Given the description of an element on the screen output the (x, y) to click on. 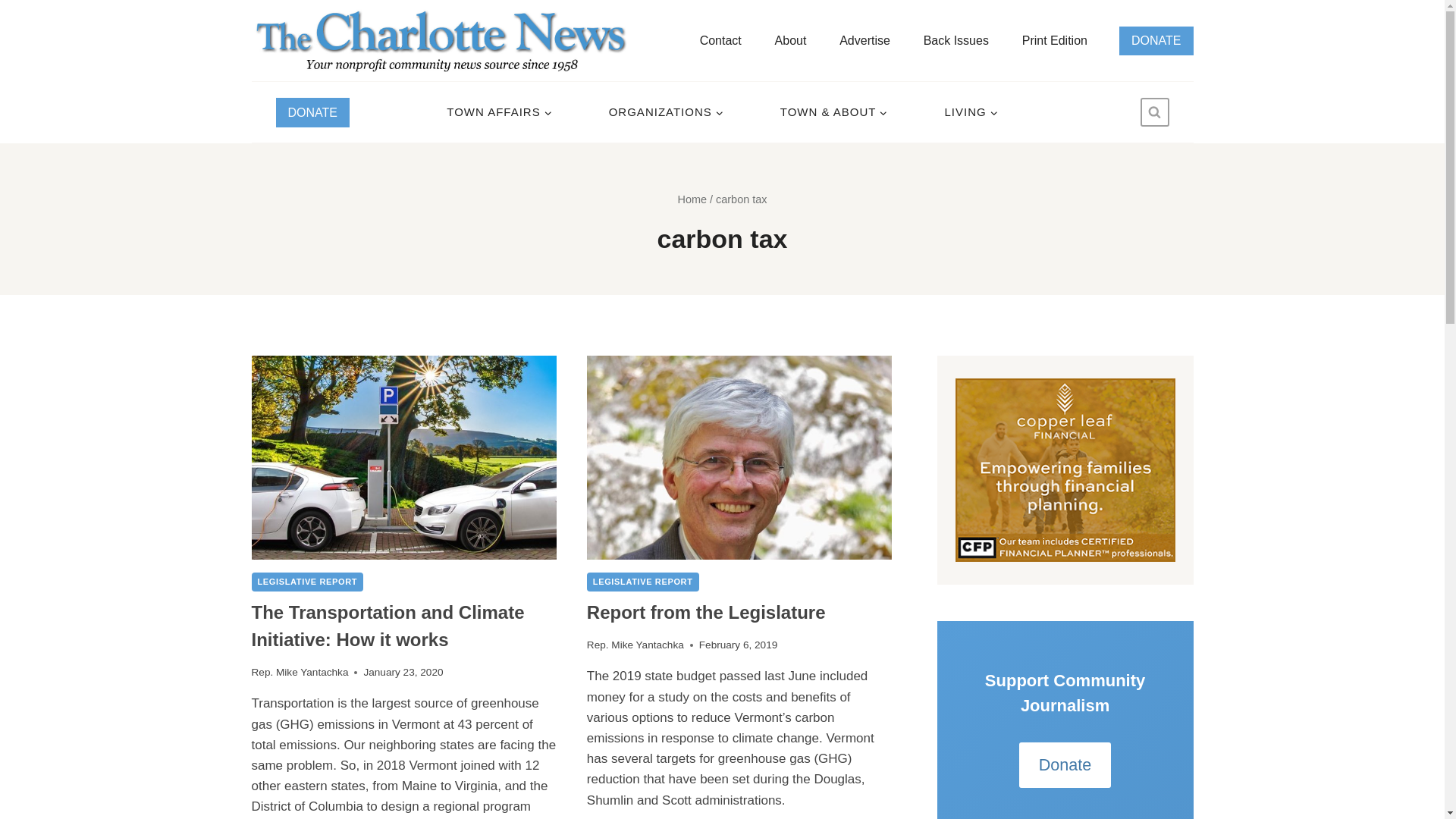
DONATE (312, 111)
Advertise (864, 40)
TOWN AFFAIRS (499, 112)
ORGANIZATIONS (665, 112)
About (790, 40)
Contact (720, 40)
Back Issues (955, 40)
Print Edition (1054, 40)
DONATE (1155, 39)
LIVING (970, 112)
